Given the description of an element on the screen output the (x, y) to click on. 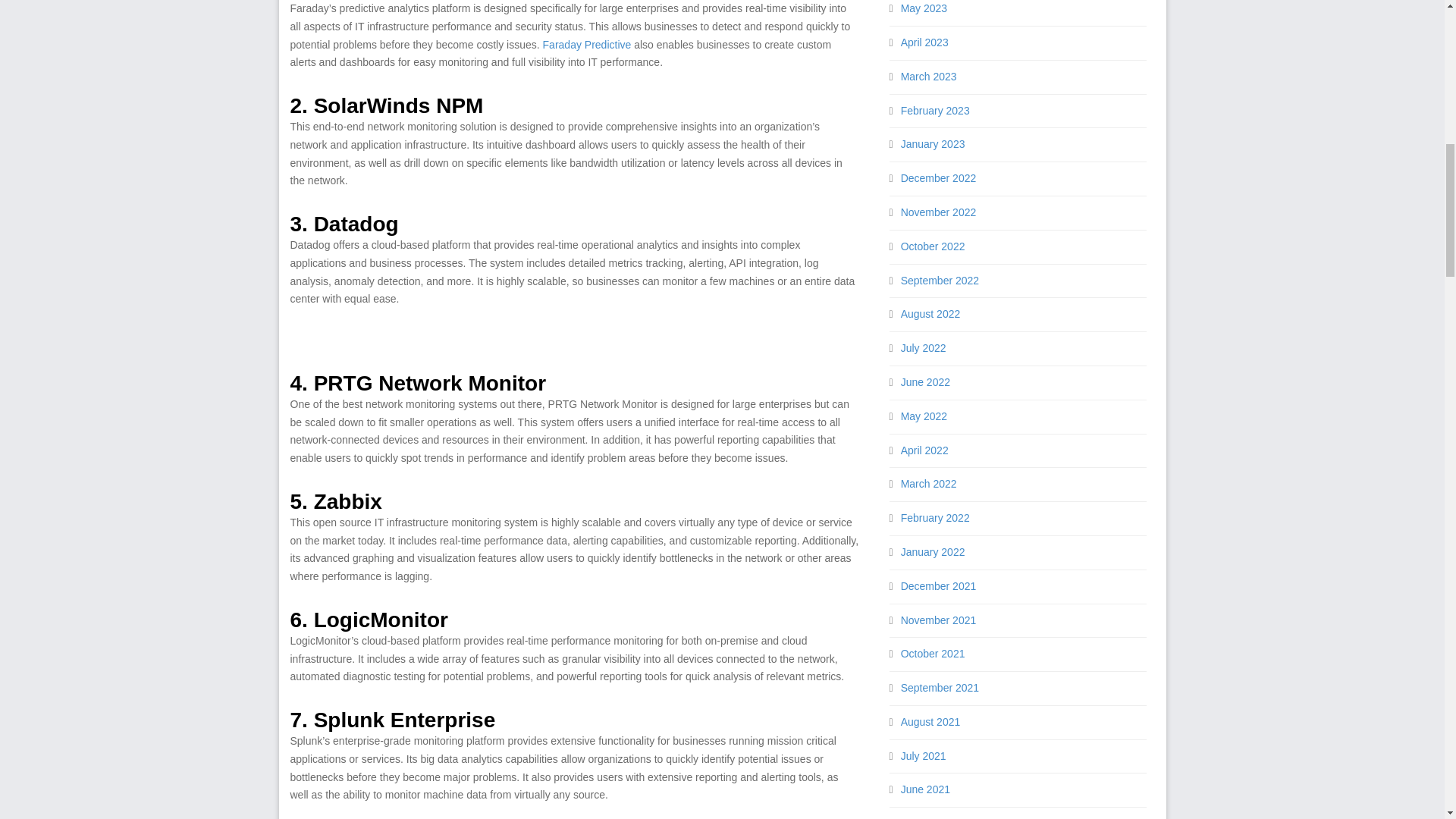
March 2023 (928, 76)
November 2022 (938, 212)
February 2023 (935, 110)
Faraday Predictive (587, 44)
April 2023 (925, 42)
May 2023 (924, 8)
December 2022 (938, 177)
October 2022 (933, 246)
September 2022 (940, 280)
January 2023 (933, 143)
